Given the description of an element on the screen output the (x, y) to click on. 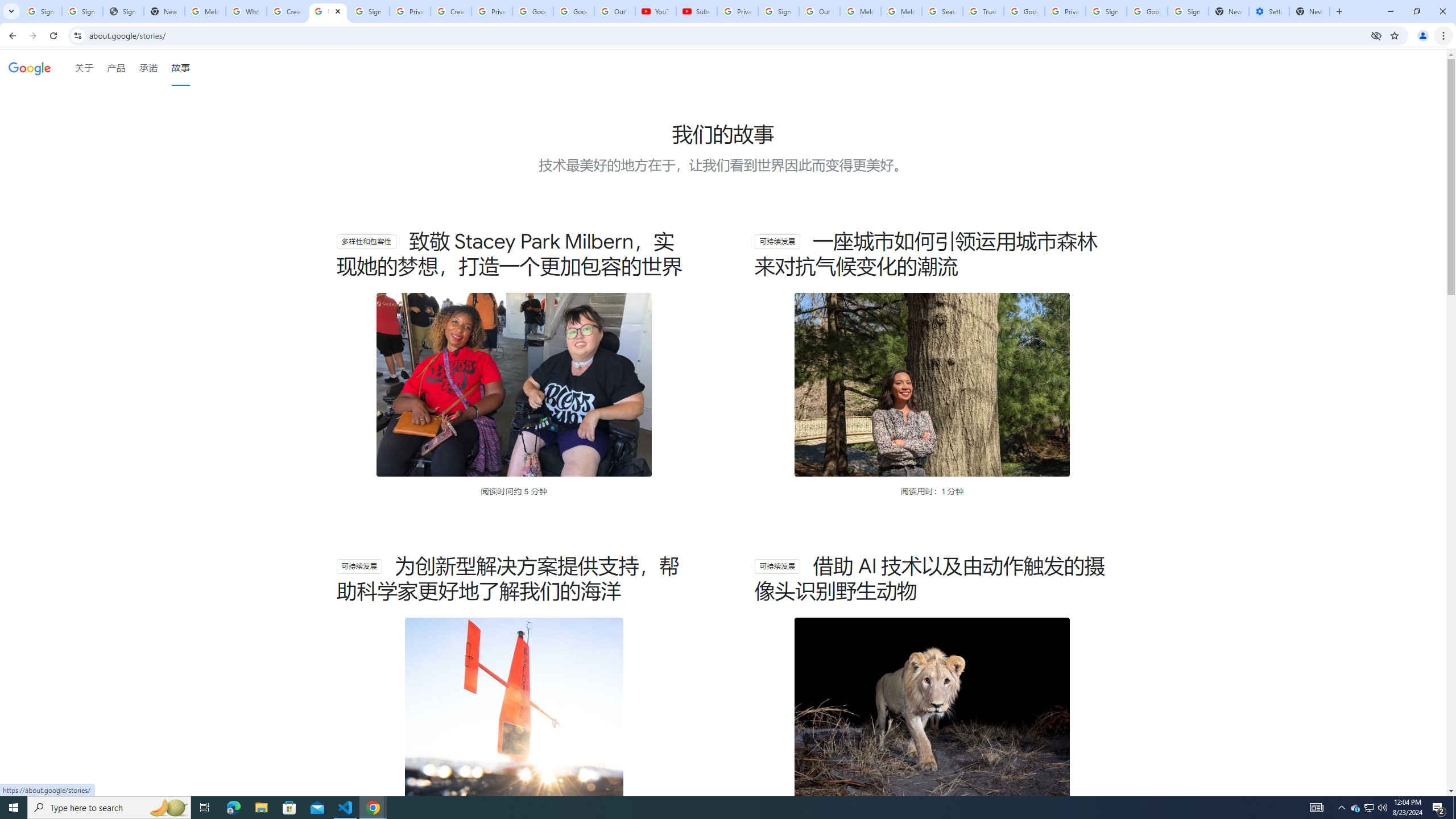
Create your Google Account (450, 11)
Google (29, 68)
YouTube (655, 11)
New Tab (1309, 11)
Search our Doodle Library Collection - Google Doodles (942, 11)
